Given the description of an element on the screen output the (x, y) to click on. 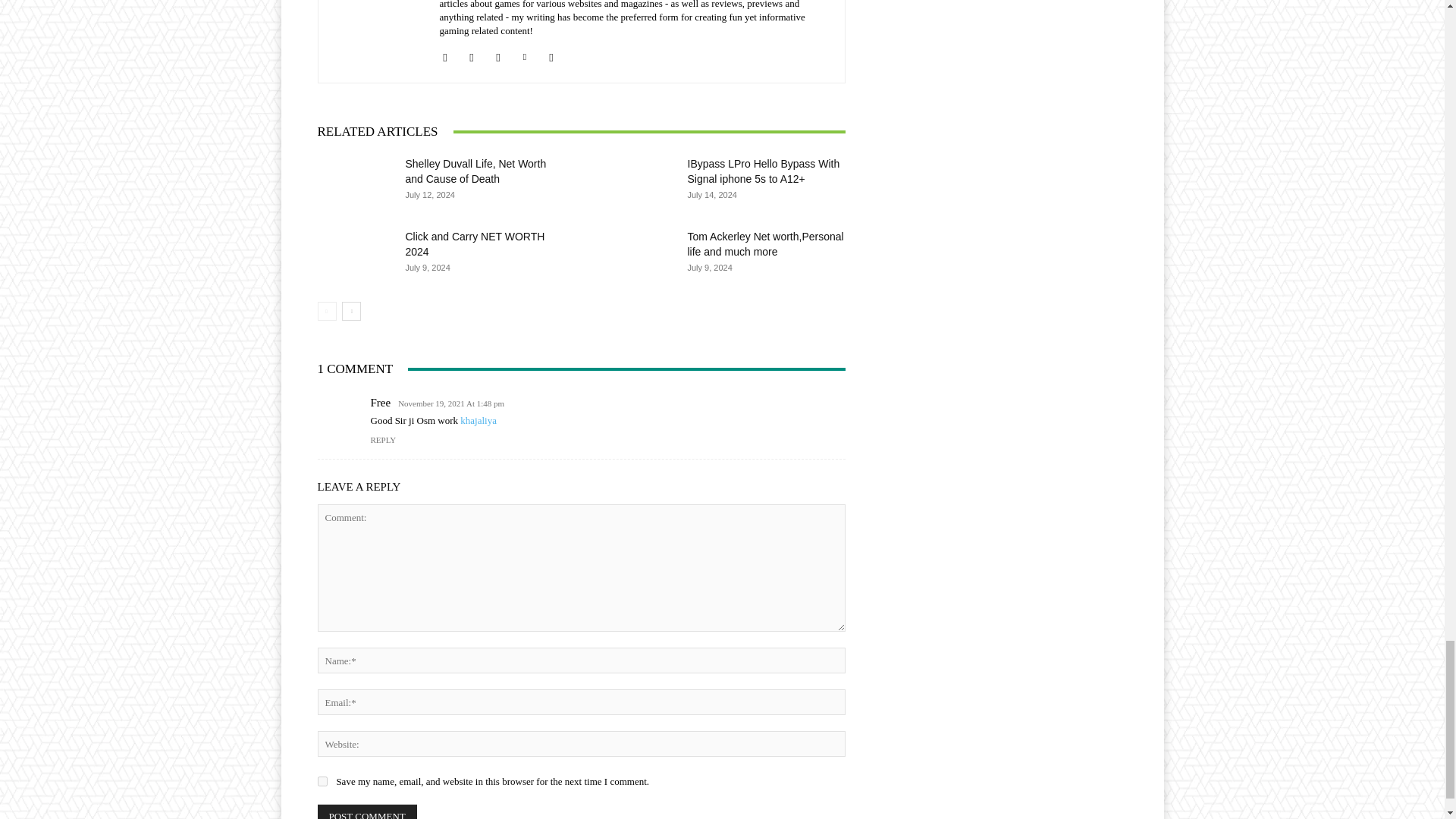
yes (321, 781)
Post Comment (366, 811)
